Given the description of an element on the screen output the (x, y) to click on. 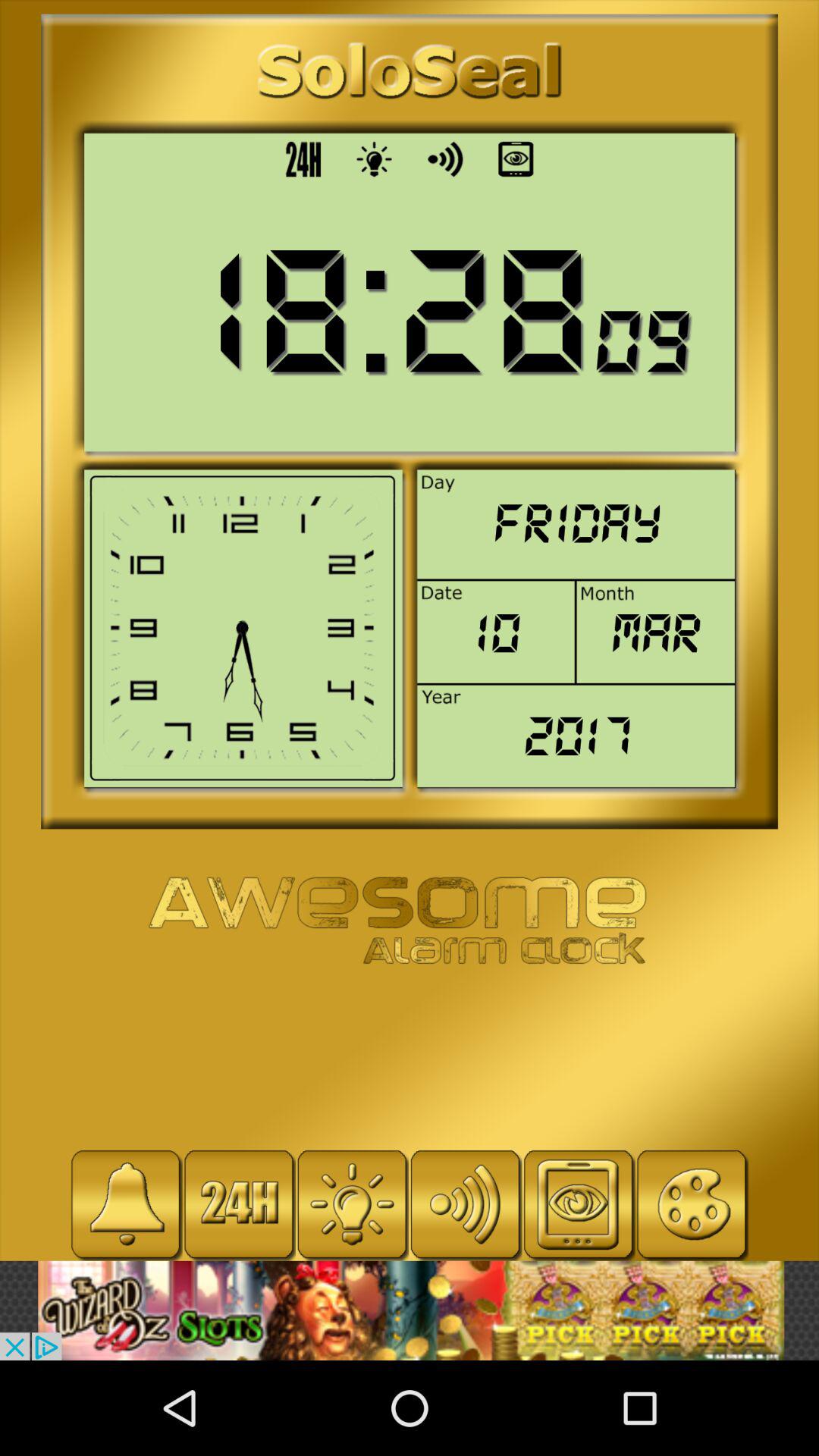
coloring option (691, 1203)
